Given the description of an element on the screen output the (x, y) to click on. 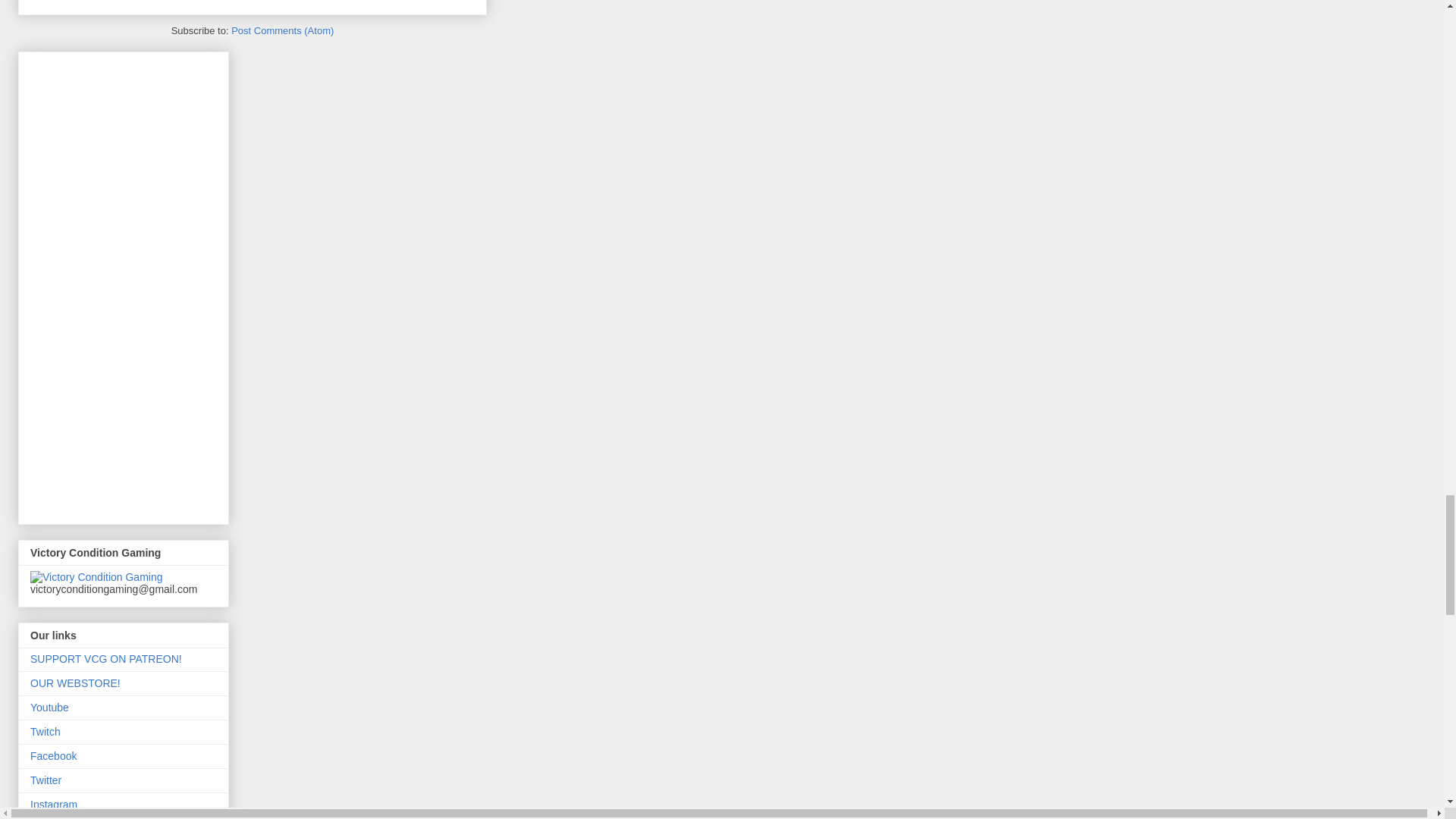
Newer Post (60, 1)
Older Post (122, 1)
